Given the description of an element on the screen output the (x, y) to click on. 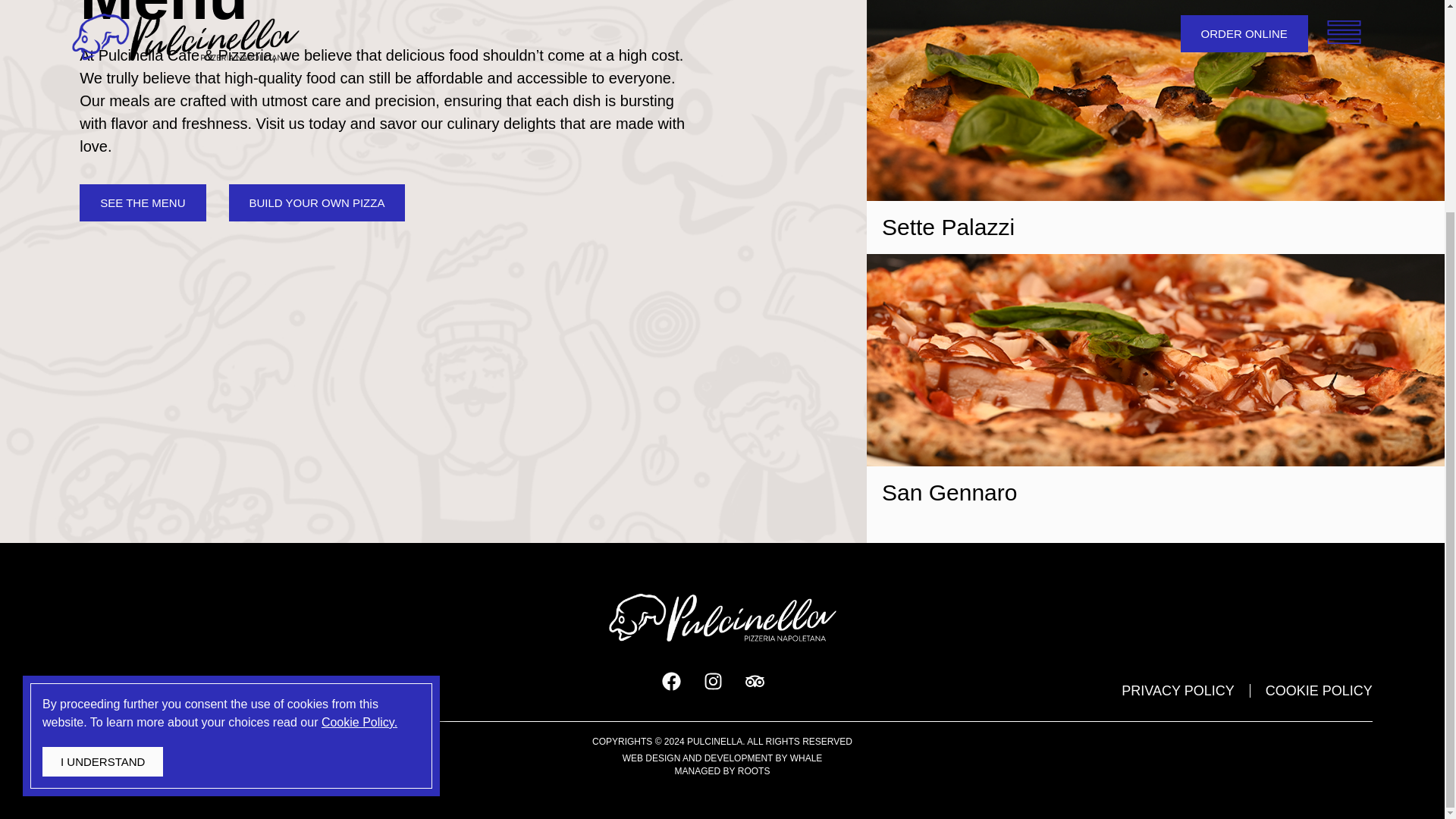
BUGIBBA OUTLET (260, 690)
WEB DESIGN AND DEVELOPMENT BY WHALE (722, 757)
GZIRA OUTLET (120, 690)
I UNDERSTAND (102, 485)
Cookie Policy. (359, 445)
PRIVACY POLICY (1177, 690)
COOKIE POLICY (1319, 690)
